Given the description of an element on the screen output the (x, y) to click on. 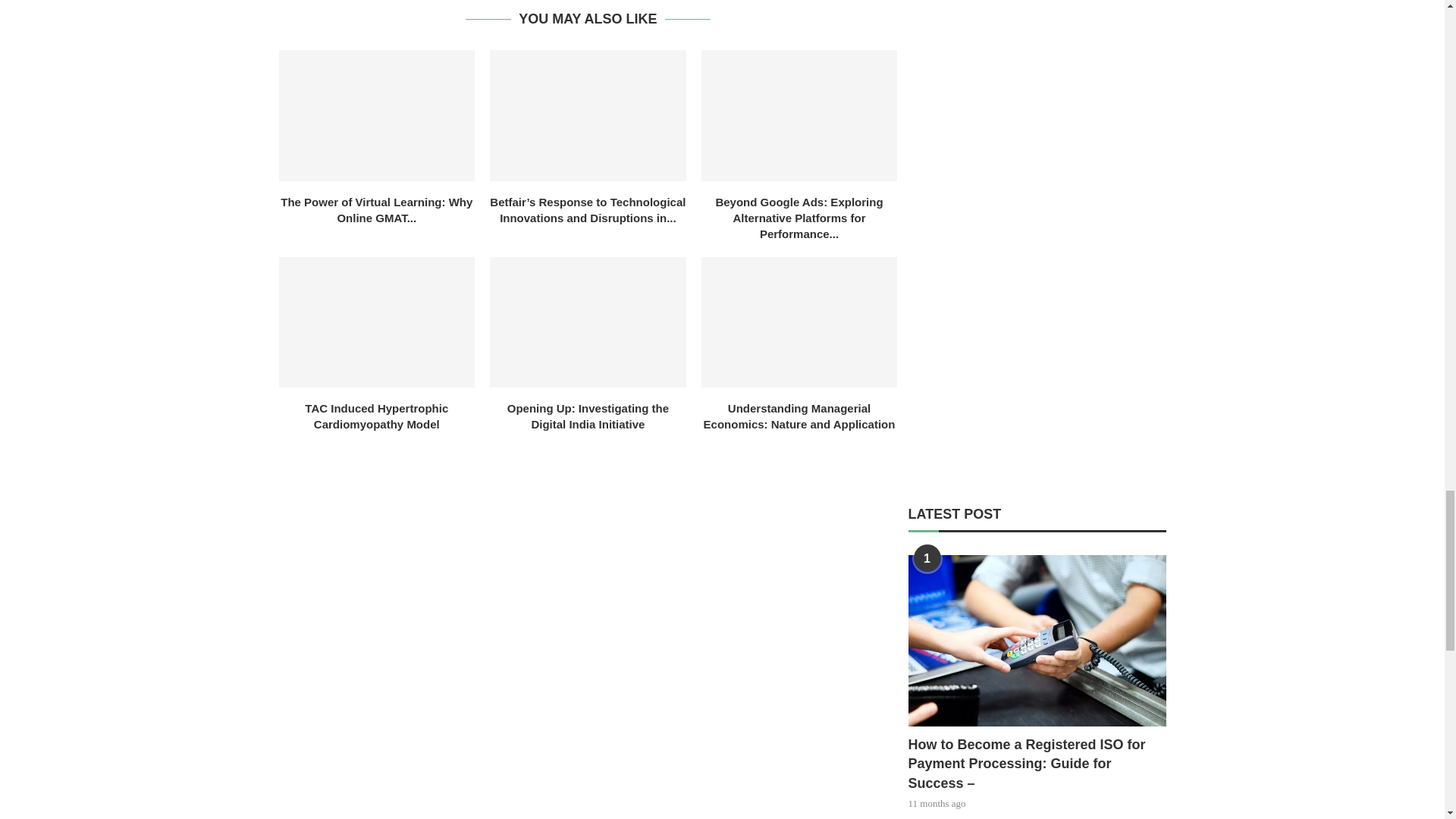
Opening Up: Investigating the Digital India Initiative (587, 322)
TAC Induced Hypertrophic Cardiomyopathy Model (377, 322)
Understanding Managerial Economics: Nature and Application (799, 322)
